Given the description of an element on the screen output the (x, y) to click on. 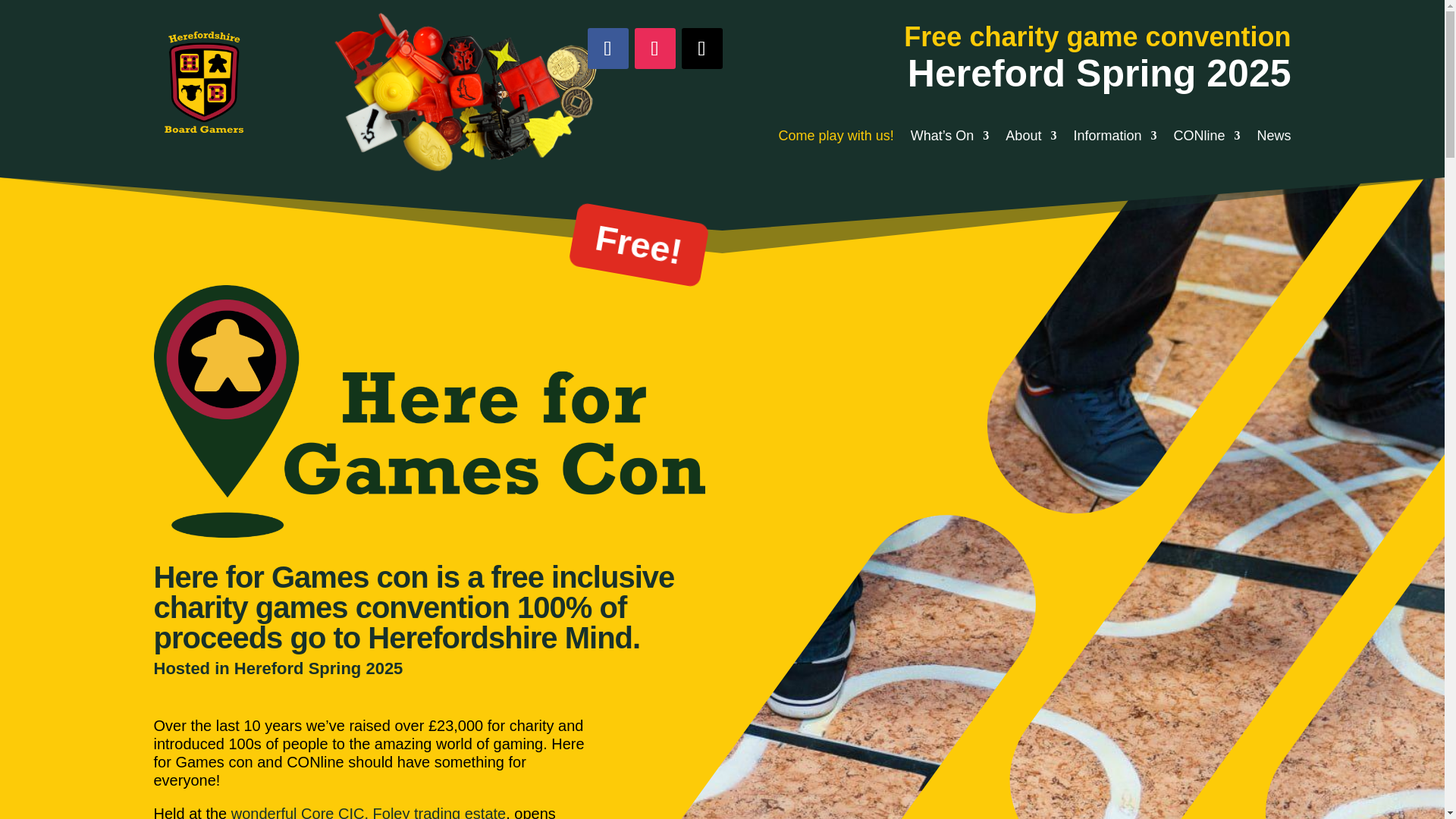
News (1273, 138)
cropped-HB-logo-with-Text-Yellow-Small.png (201, 82)
About (1031, 138)
Come play with us! (835, 138)
CONline (1206, 138)
Follow on X (701, 47)
Follow on Instagram (654, 47)
Follow on Facebook (606, 47)
Information (1114, 138)
